Given the description of an element on the screen output the (x, y) to click on. 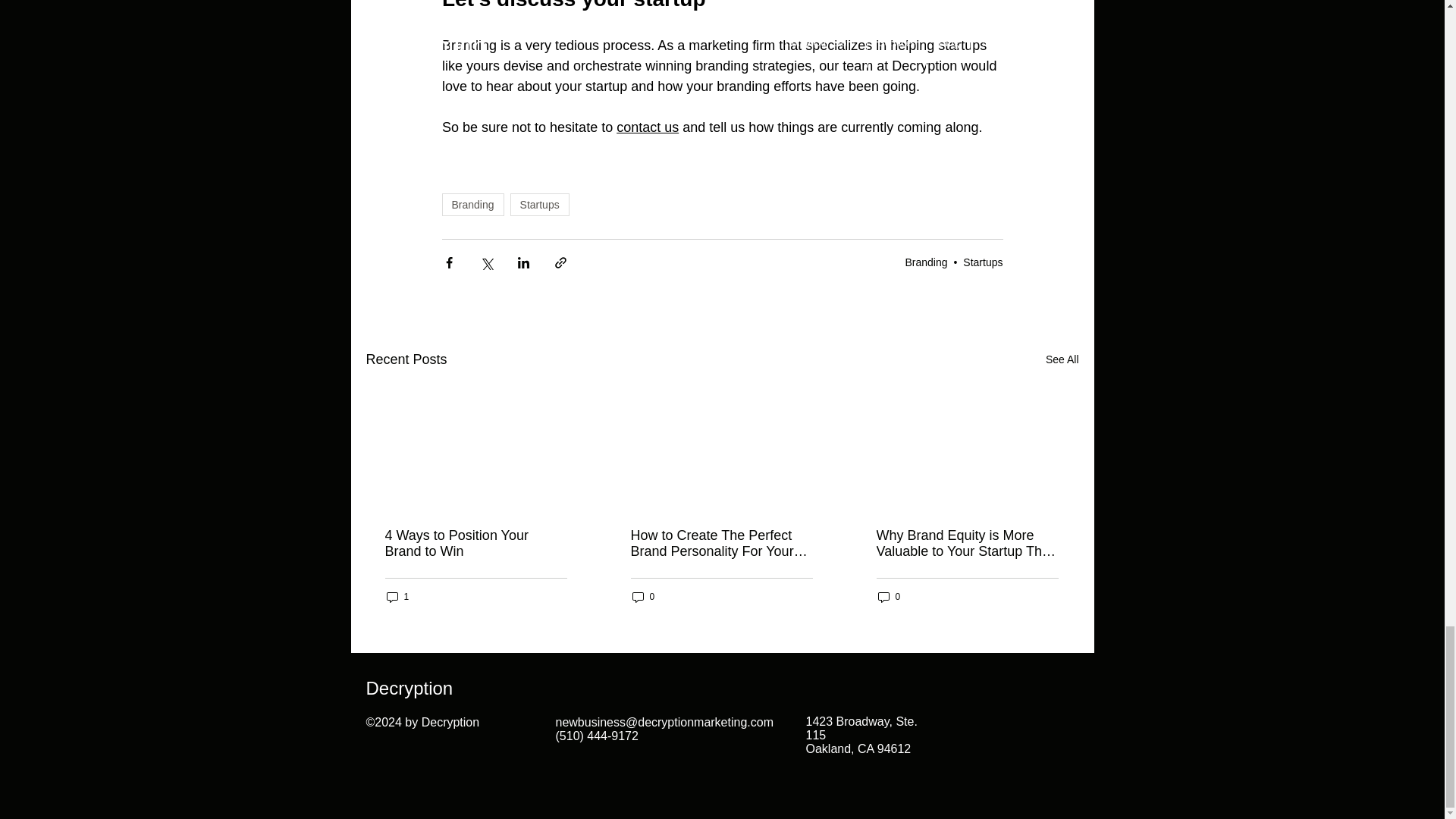
Startups (540, 204)
See All (1061, 359)
How to Create The Perfect Brand Personality For Your Startup (721, 543)
contact us (646, 127)
1 (397, 596)
Branding (925, 262)
Branding (472, 204)
0 (889, 596)
0 (643, 596)
Startups (982, 262)
